Given the description of an element on the screen output the (x, y) to click on. 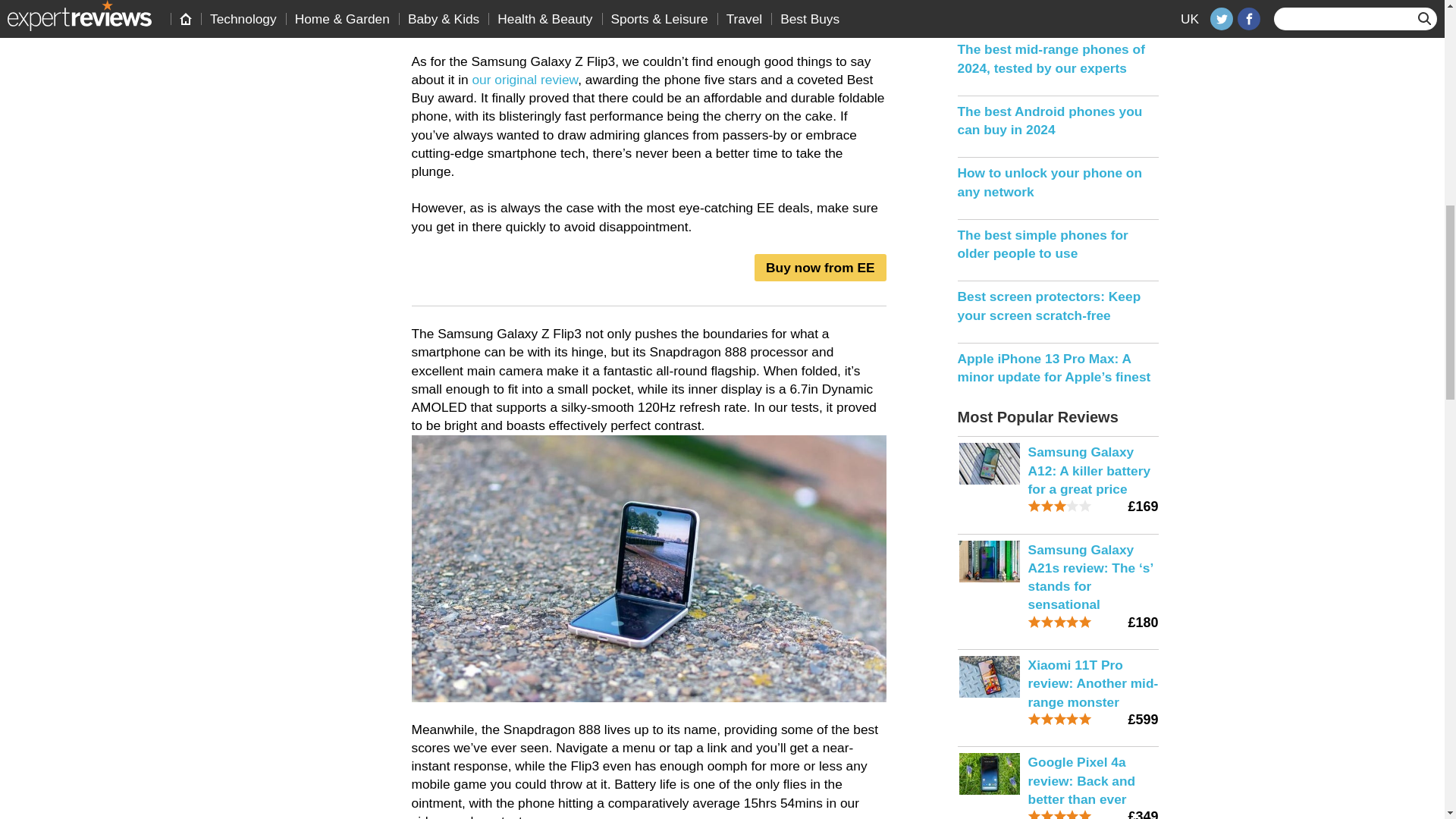
according to Opensignal (481, 23)
Buy now from EE (819, 267)
our original review (524, 79)
